Given the description of an element on the screen output the (x, y) to click on. 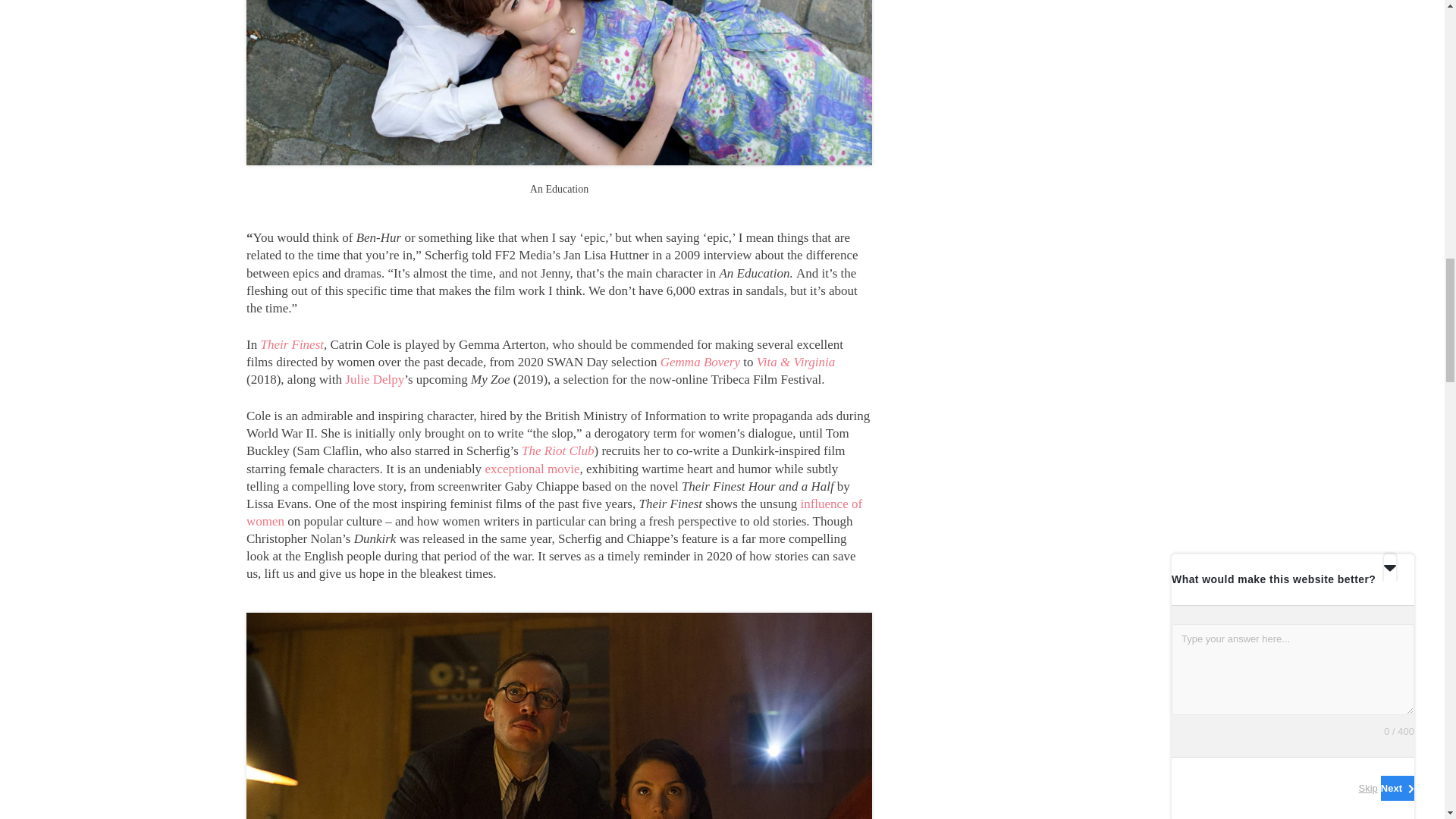
Julie Delpy (374, 379)
The Riot Club (557, 450)
Gemma Bovery (702, 361)
Their Finest (291, 344)
exceptional movie (531, 468)
influence of women (553, 512)
